Given the description of an element on the screen output the (x, y) to click on. 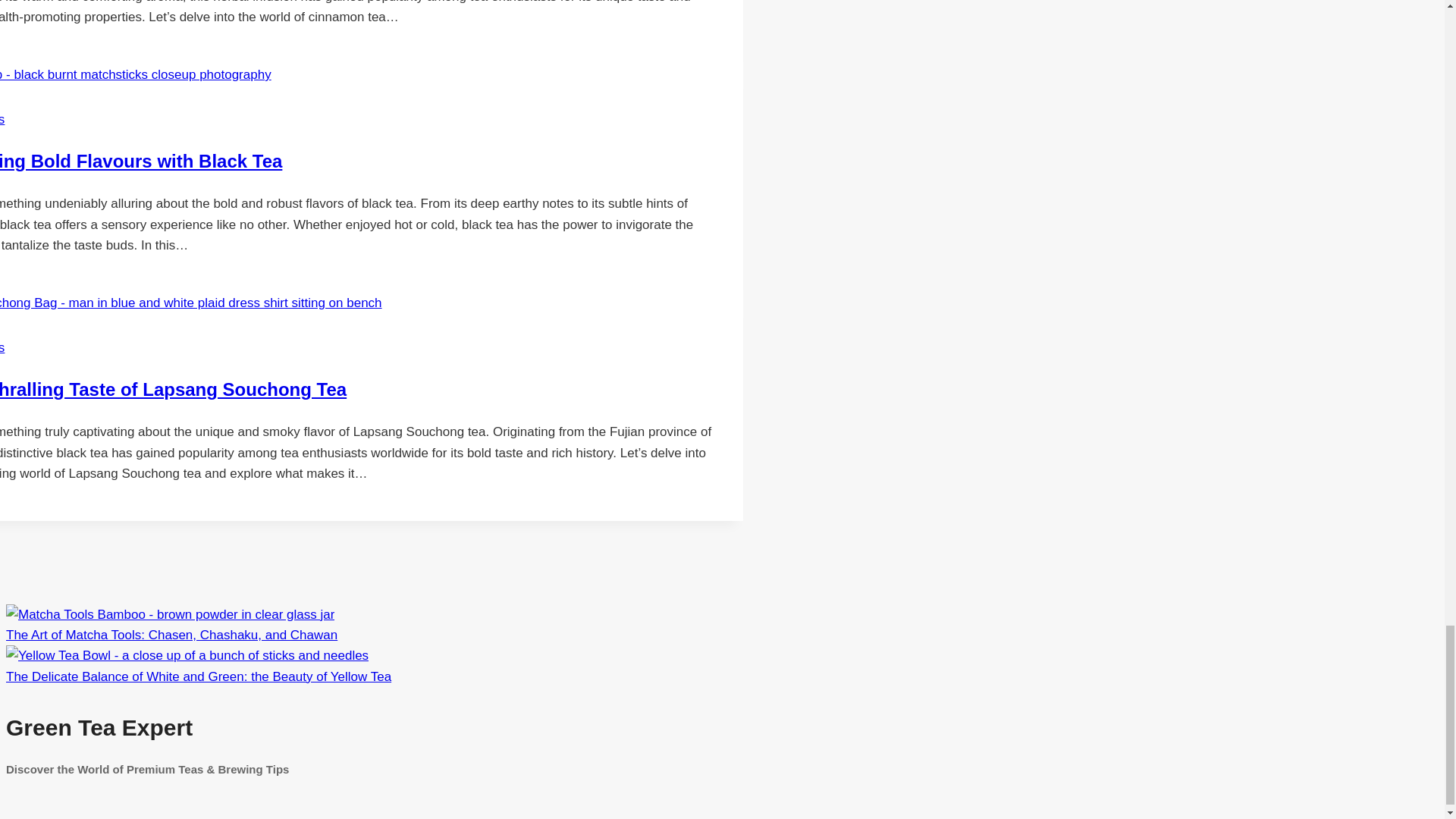
Embracing Bold Flavours with Black Tea (141, 160)
The Art of Matcha Tools: Chasen, Chashaku, and Chawan (169, 614)
The Art of Matcha Tools: Chasen, Chashaku, and Chawan (171, 635)
The Enthralling Taste of Lapsang Souchong Tea (173, 389)
